Given the description of an element on the screen output the (x, y) to click on. 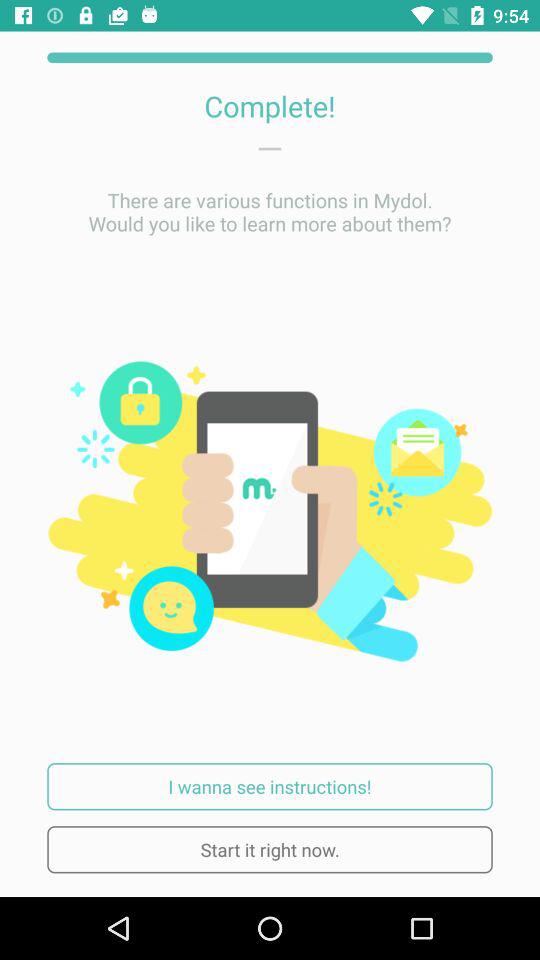
press the start it right icon (269, 849)
